Given the description of an element on the screen output the (x, y) to click on. 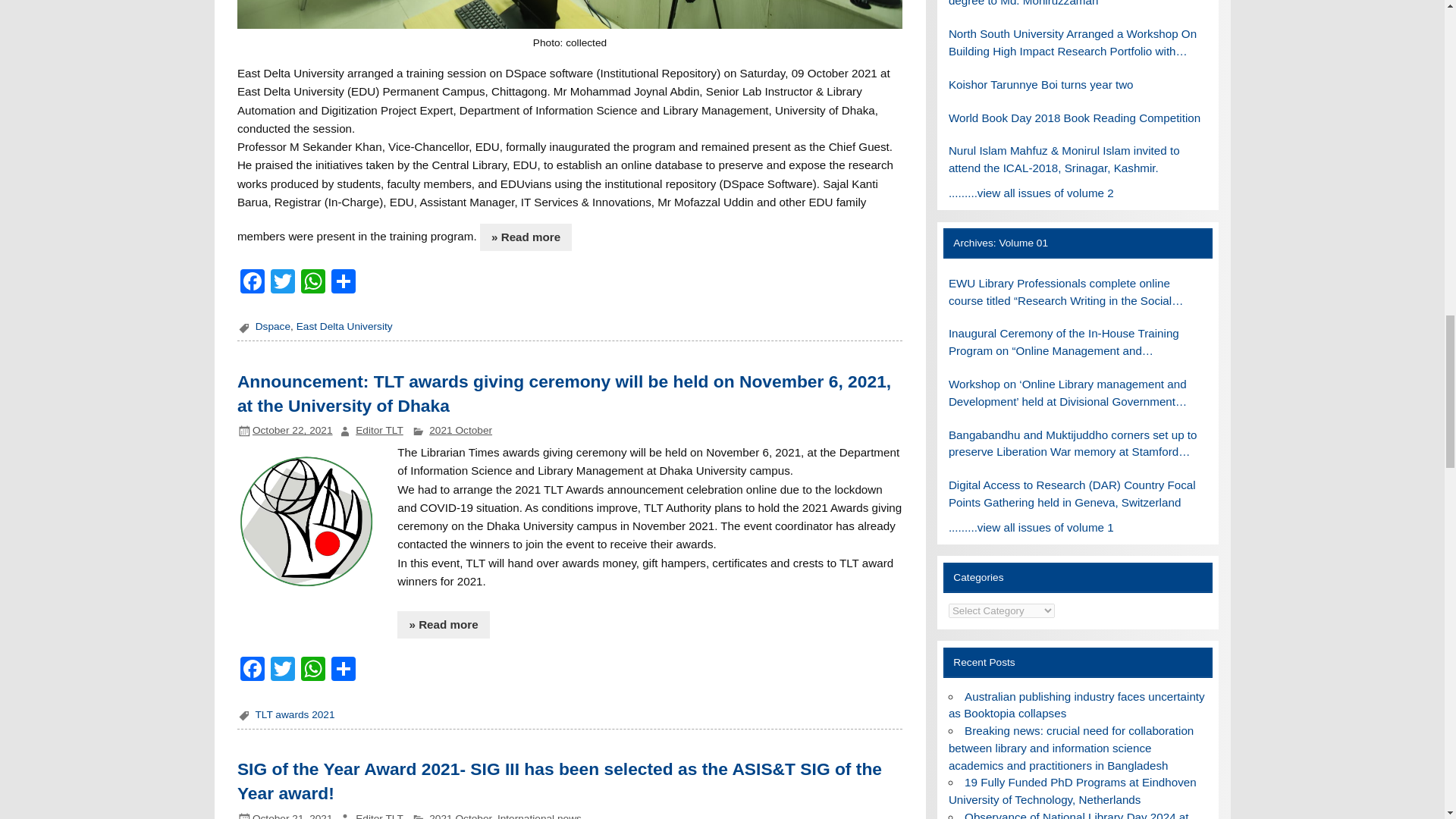
Facebook (252, 283)
View all posts by Editor TLT (379, 430)
View all posts by Editor TLT (379, 816)
5:18 pm (292, 430)
3:52 pm (292, 816)
WhatsApp (313, 670)
Twitter (282, 283)
WhatsApp (313, 283)
Twitter (282, 670)
Facebook (252, 670)
